Given the description of an element on the screen output the (x, y) to click on. 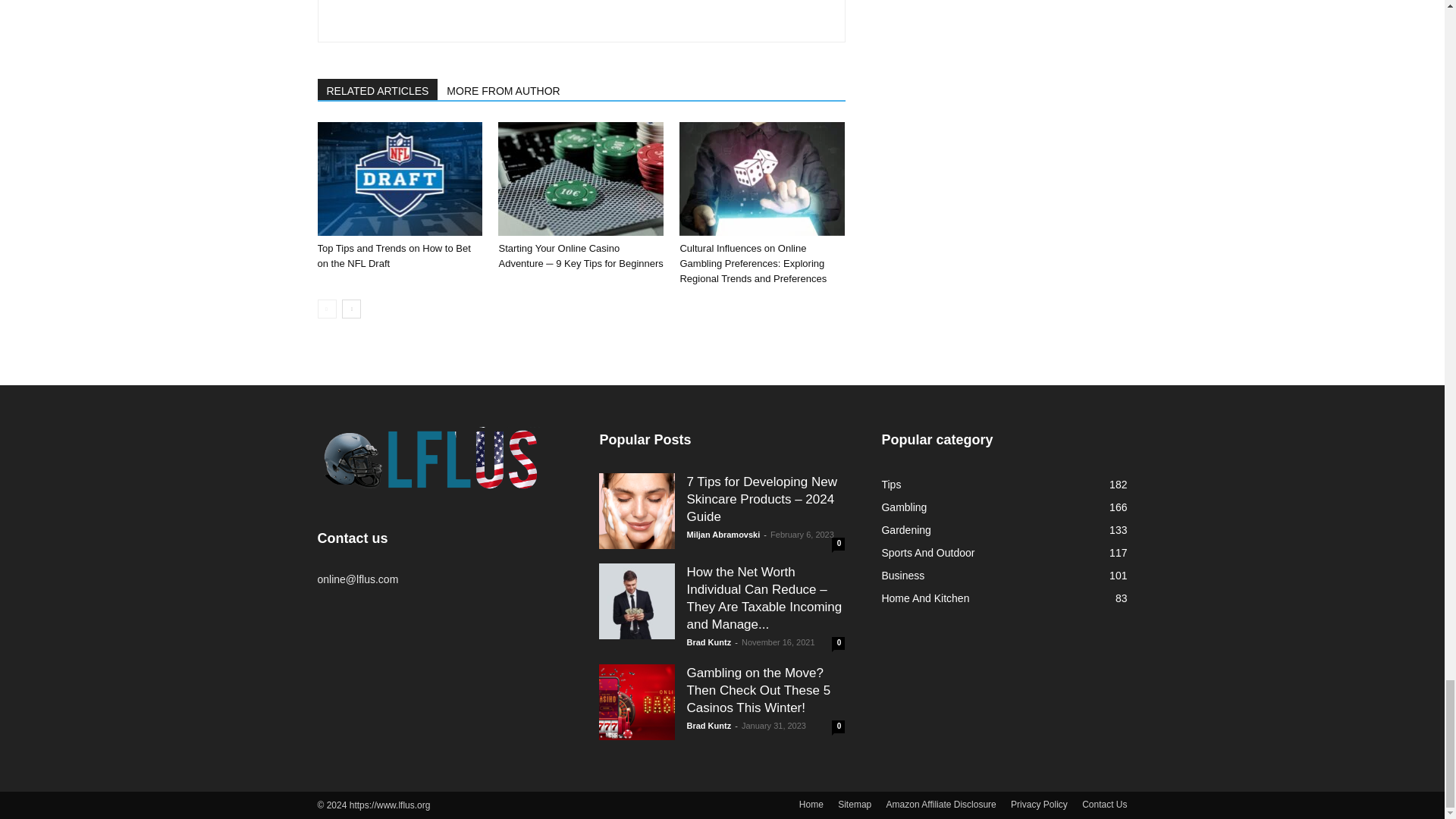
Top Tips and Trends on How to Bet on the NFL Draft (393, 255)
Top Tips and Trends on How to Bet on the NFL Draft (399, 178)
